Given the description of an element on the screen output the (x, y) to click on. 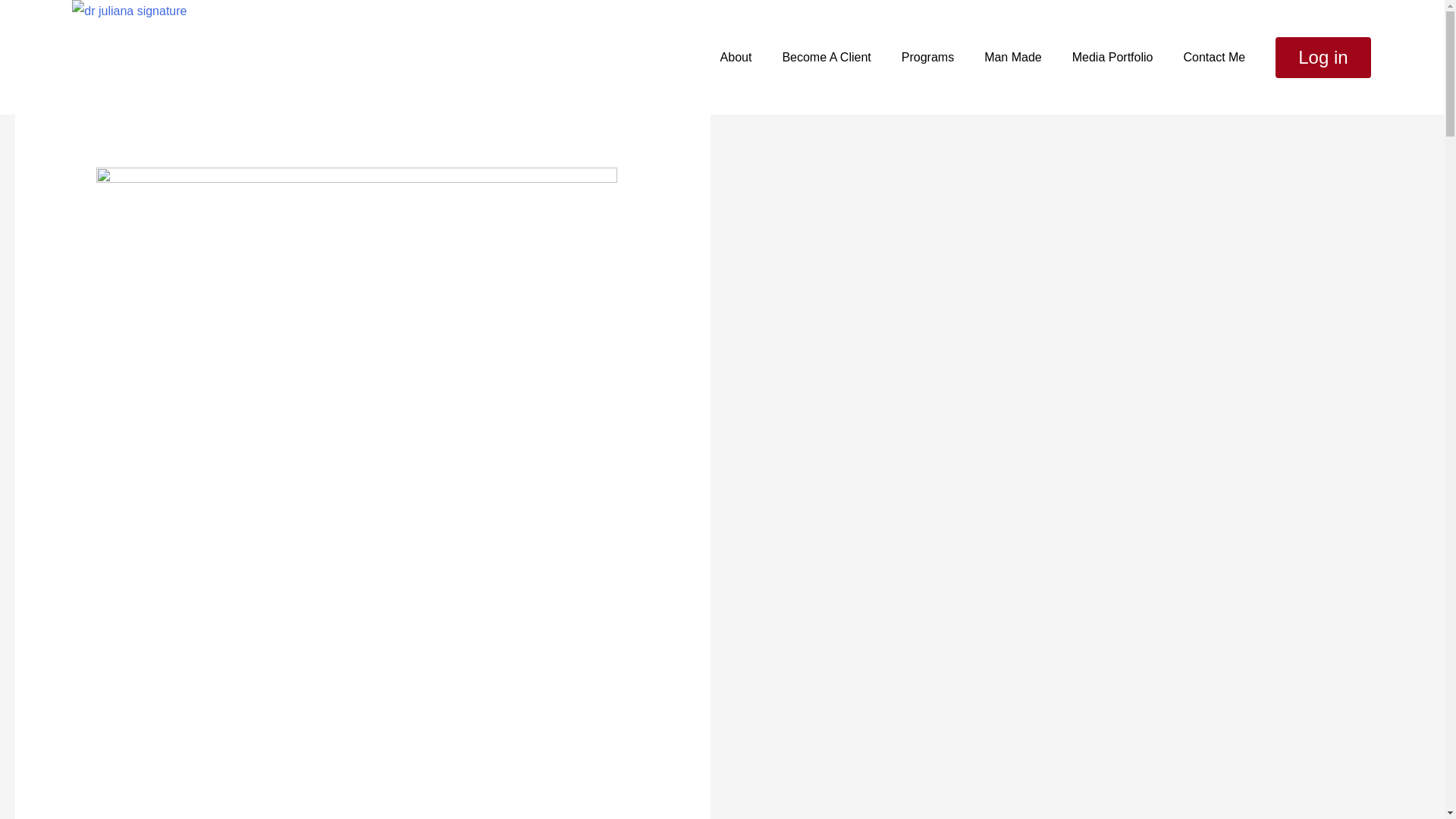
Contact Me (1213, 56)
Programs (927, 56)
Log in (1322, 56)
Man Made (1013, 56)
Media Portfolio (1112, 56)
Become A Client (825, 56)
About (736, 56)
